Given the description of an element on the screen output the (x, y) to click on. 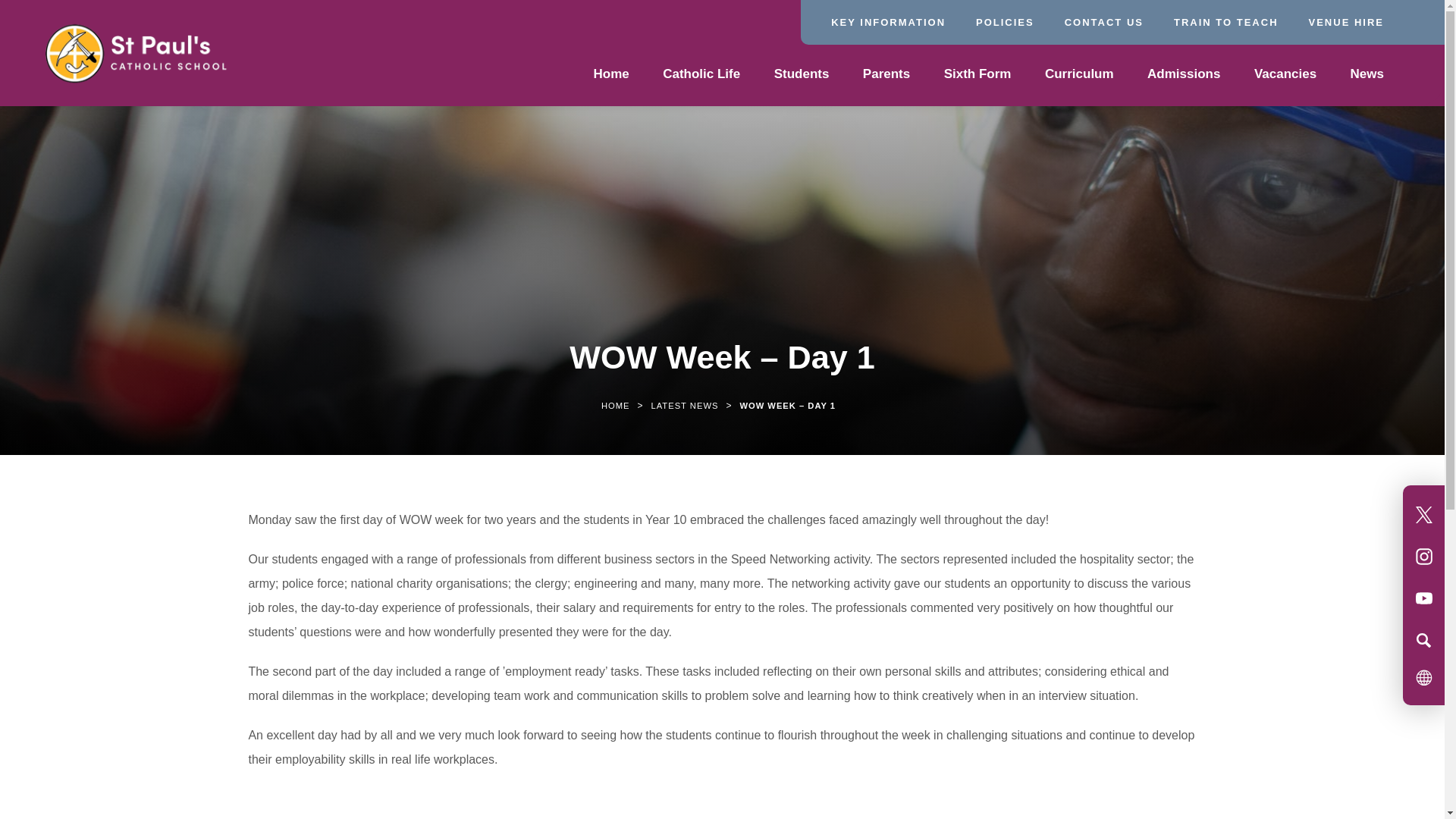
Parents (885, 75)
KEY INFORMATION (887, 21)
POLICIES (1004, 21)
VENUE HIRE (1346, 21)
TRAIN TO TEACH (1225, 21)
Students (801, 75)
Catholic Life (701, 75)
CONTACT US (1103, 21)
Home (610, 75)
